Given the description of an element on the screen output the (x, y) to click on. 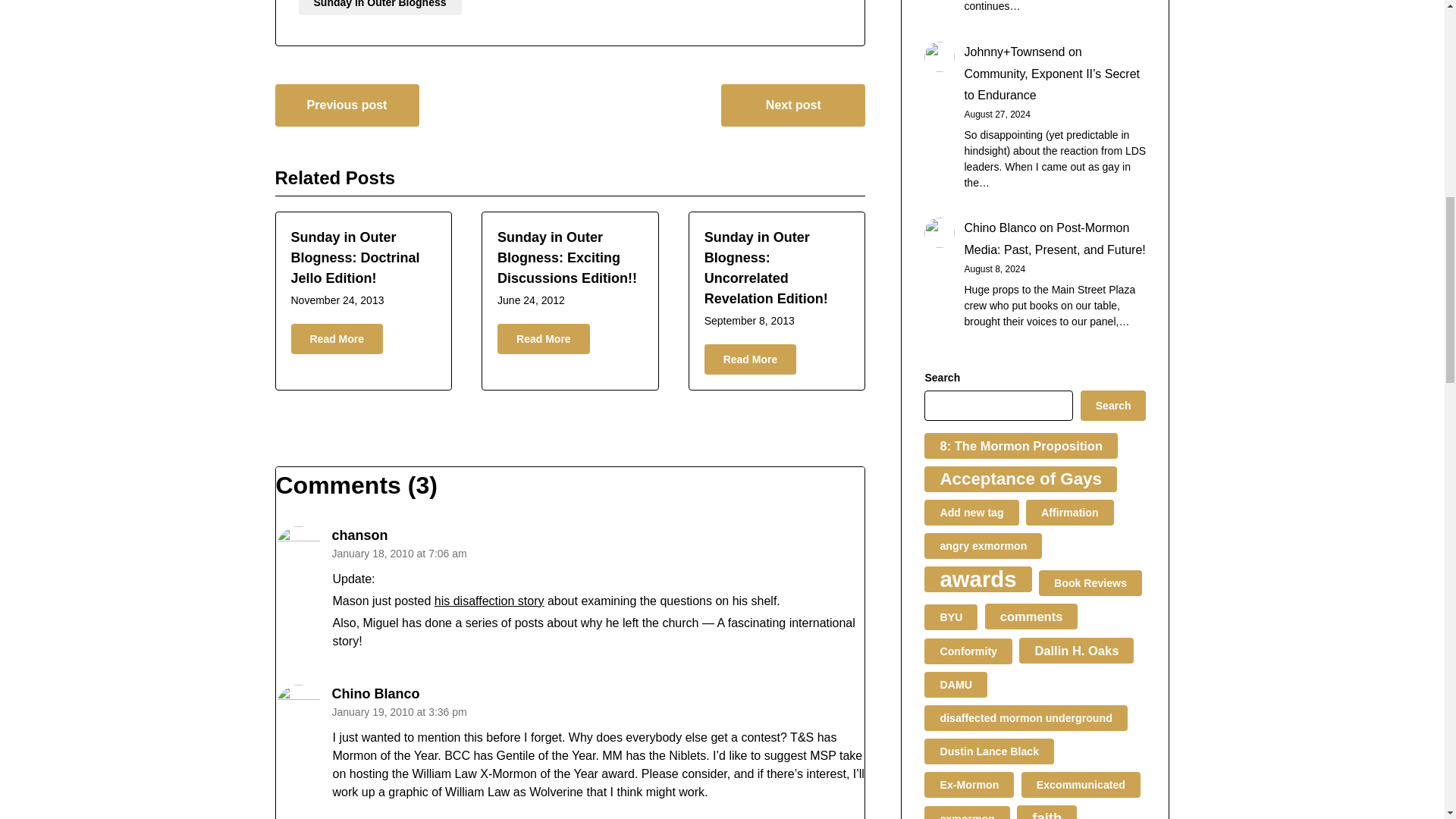
June 24, 2012 (530, 300)
chanson (359, 534)
Next post (792, 105)
Previous post (347, 105)
Read More (543, 338)
his disaffection story (488, 600)
Chino Blanco (375, 693)
September 8, 2013 (749, 320)
November 24, 2013 (337, 300)
Sunday in Outer Blogness: Doctrinal Jello Edition! (355, 257)
